Given the description of an element on the screen output the (x, y) to click on. 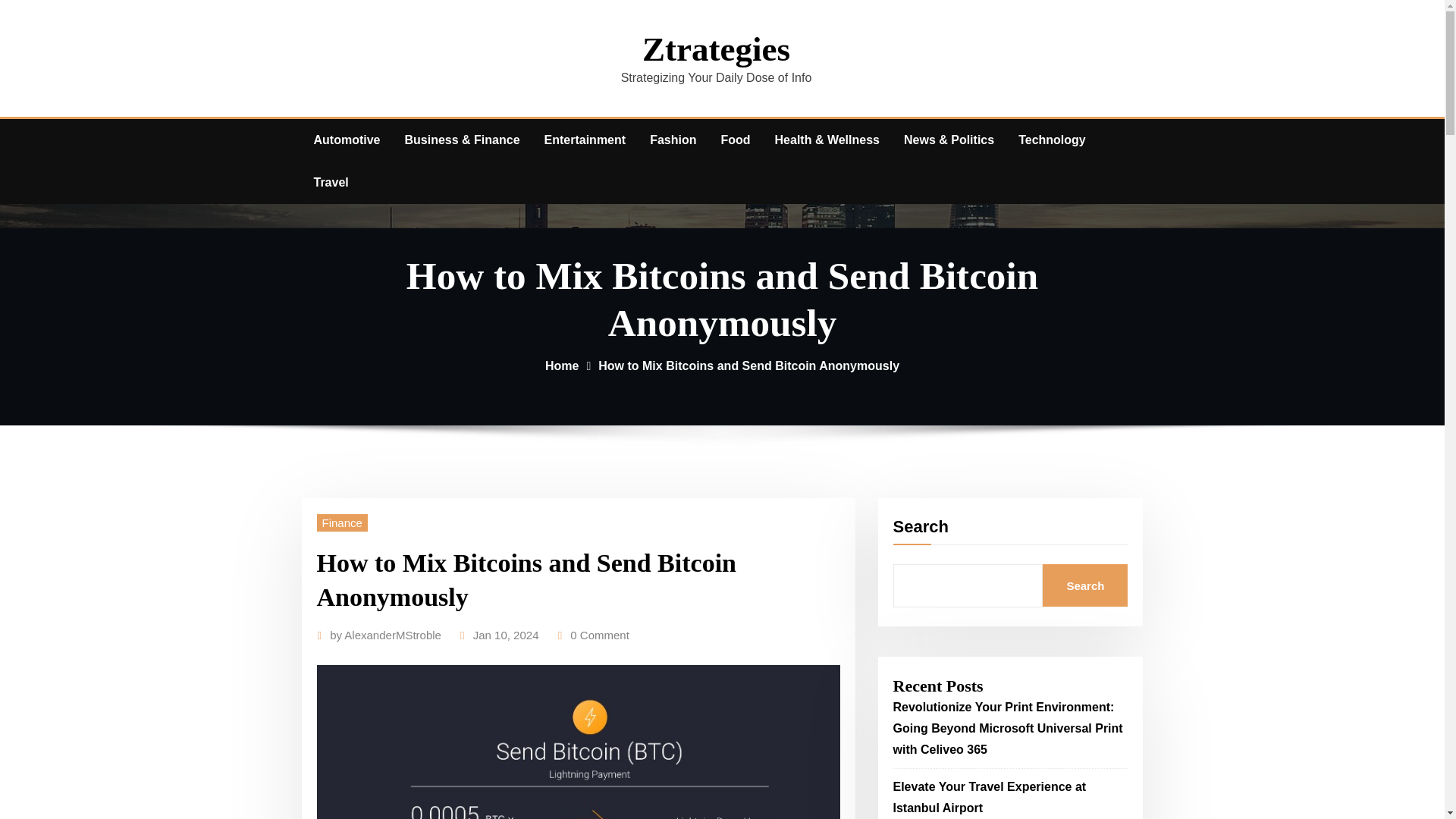
Home (561, 365)
Food (734, 139)
How to Mix Bitcoins and Send Bitcoin Anonymously (748, 365)
Automotive (347, 139)
Travel (331, 182)
Finance (342, 522)
Search (1084, 585)
0 Comment (599, 635)
Entertainment (585, 139)
Ztrategies (716, 48)
Fashion (672, 139)
Jan 10, 2024 (505, 635)
Technology (1051, 139)
Elevate Your Travel Experience at Istanbul Airport (989, 797)
